Given the description of an element on the screen output the (x, y) to click on. 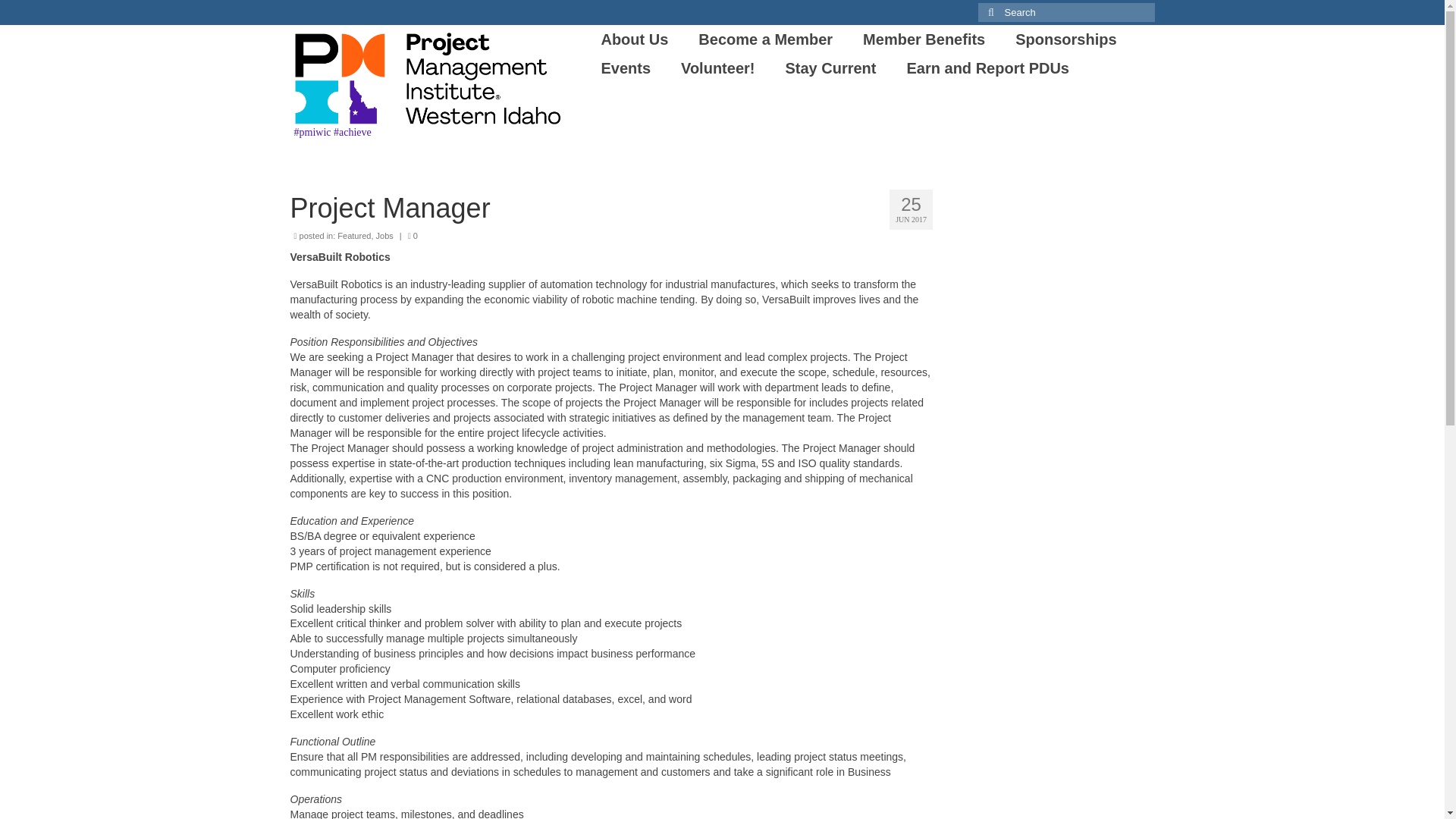
Events (625, 68)
Volunteer! (717, 68)
Jobs (384, 235)
Sponsorships (1065, 39)
Member Benefits (923, 39)
Stay Current (830, 68)
Earn and Report PDUs (987, 68)
About Us (633, 39)
Become a Member (764, 39)
Featured (354, 235)
